Given the description of an element on the screen output the (x, y) to click on. 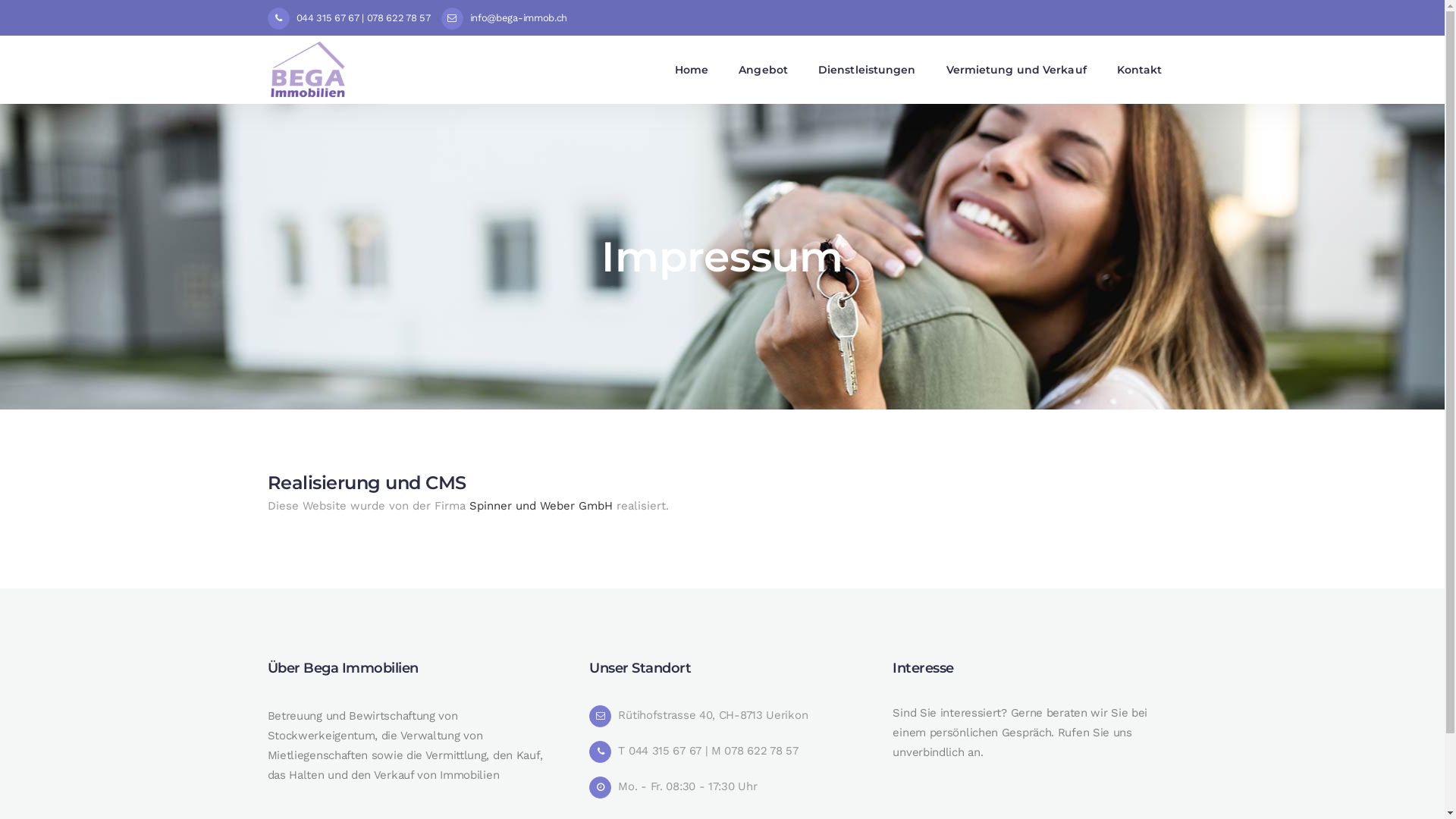
Kontakt Element type: text (1139, 69)
info@bega-immob.ch Element type: text (504, 17)
Vermietung und Verkauf Element type: text (1016, 69)
Home Element type: text (691, 69)
Angebot Element type: text (763, 69)
Dienstleistungen Element type: text (867, 69)
Spinner und Weber GmbH Element type: text (539, 505)
